Given the description of an element on the screen output the (x, y) to click on. 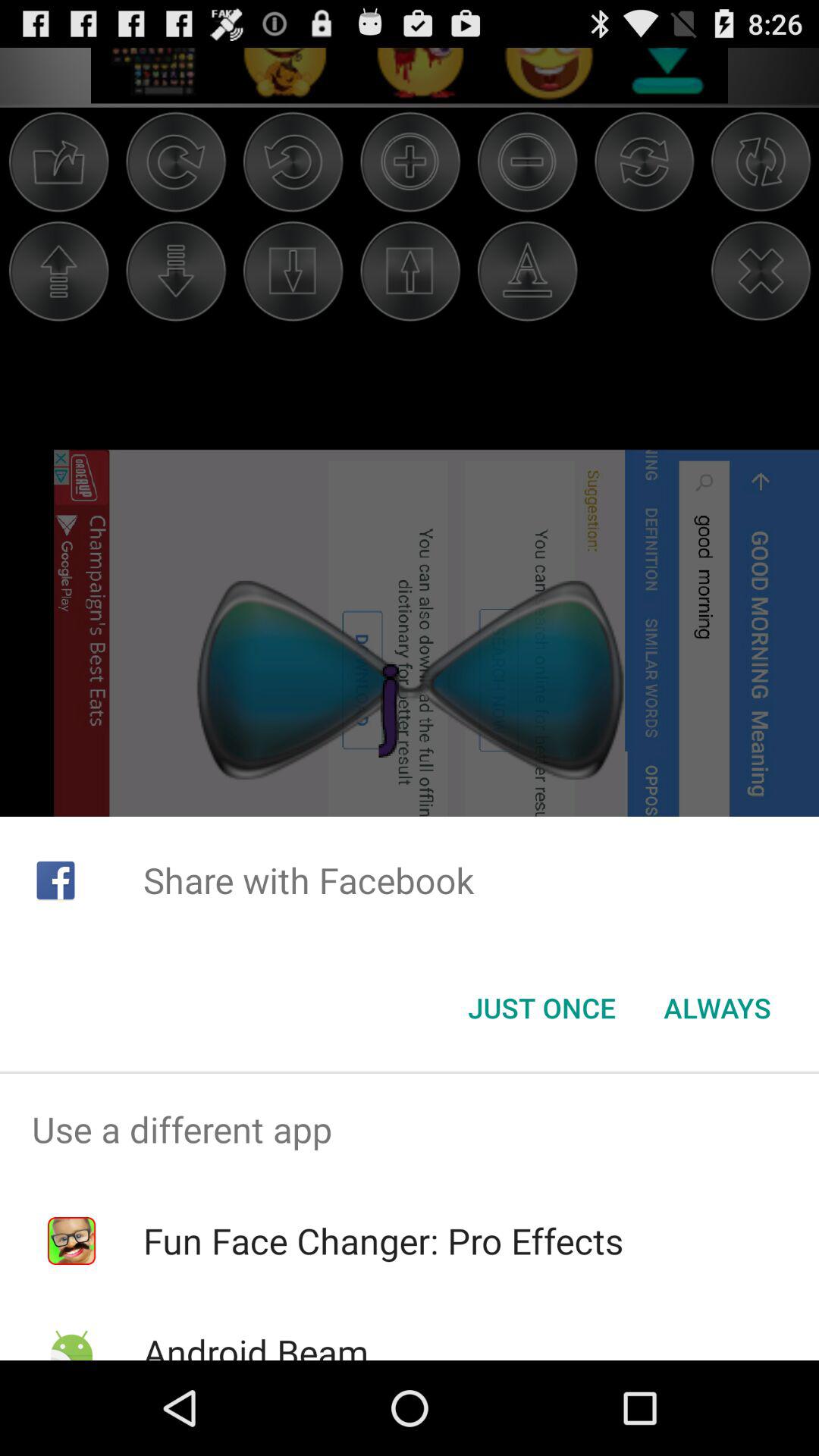
press always (717, 1007)
